Given the description of an element on the screen output the (x, y) to click on. 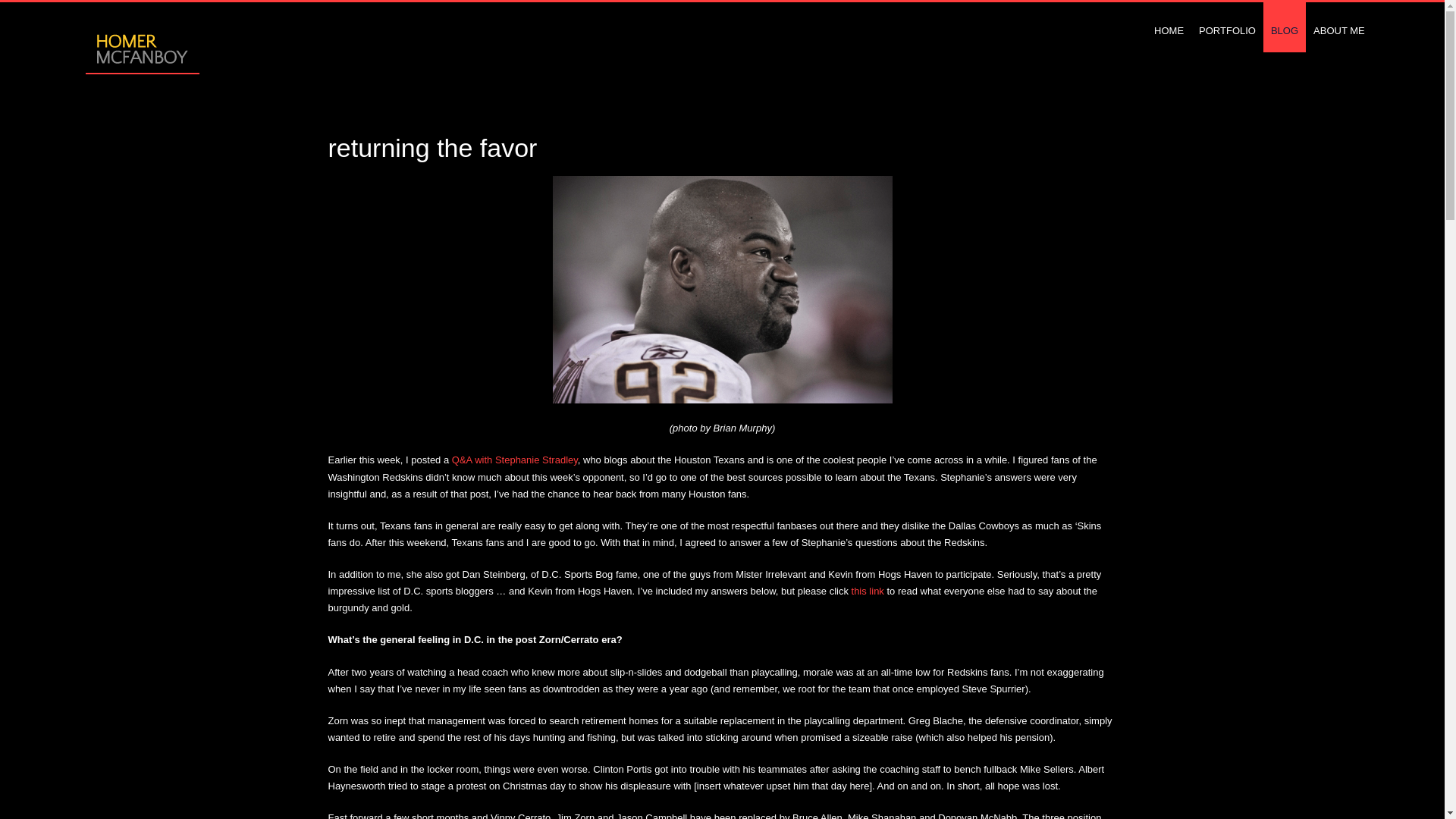
PORTFOLIO (1227, 26)
this link (867, 591)
ABOUT ME (1339, 26)
